Given the description of an element on the screen output the (x, y) to click on. 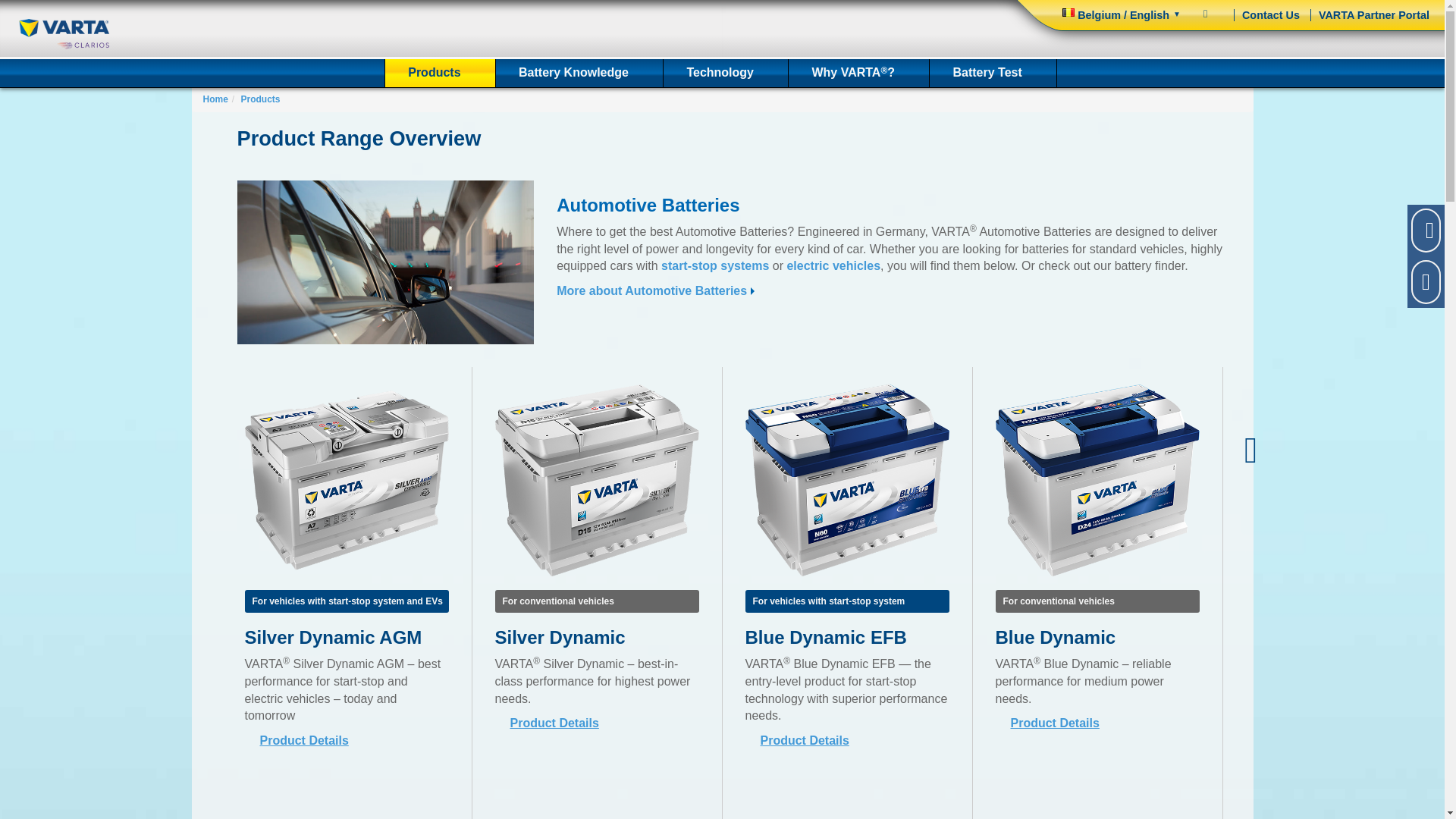
Battery Knowledge (579, 72)
Technology (725, 72)
Battery Test (992, 72)
Products (440, 72)
